Given the description of an element on the screen output the (x, y) to click on. 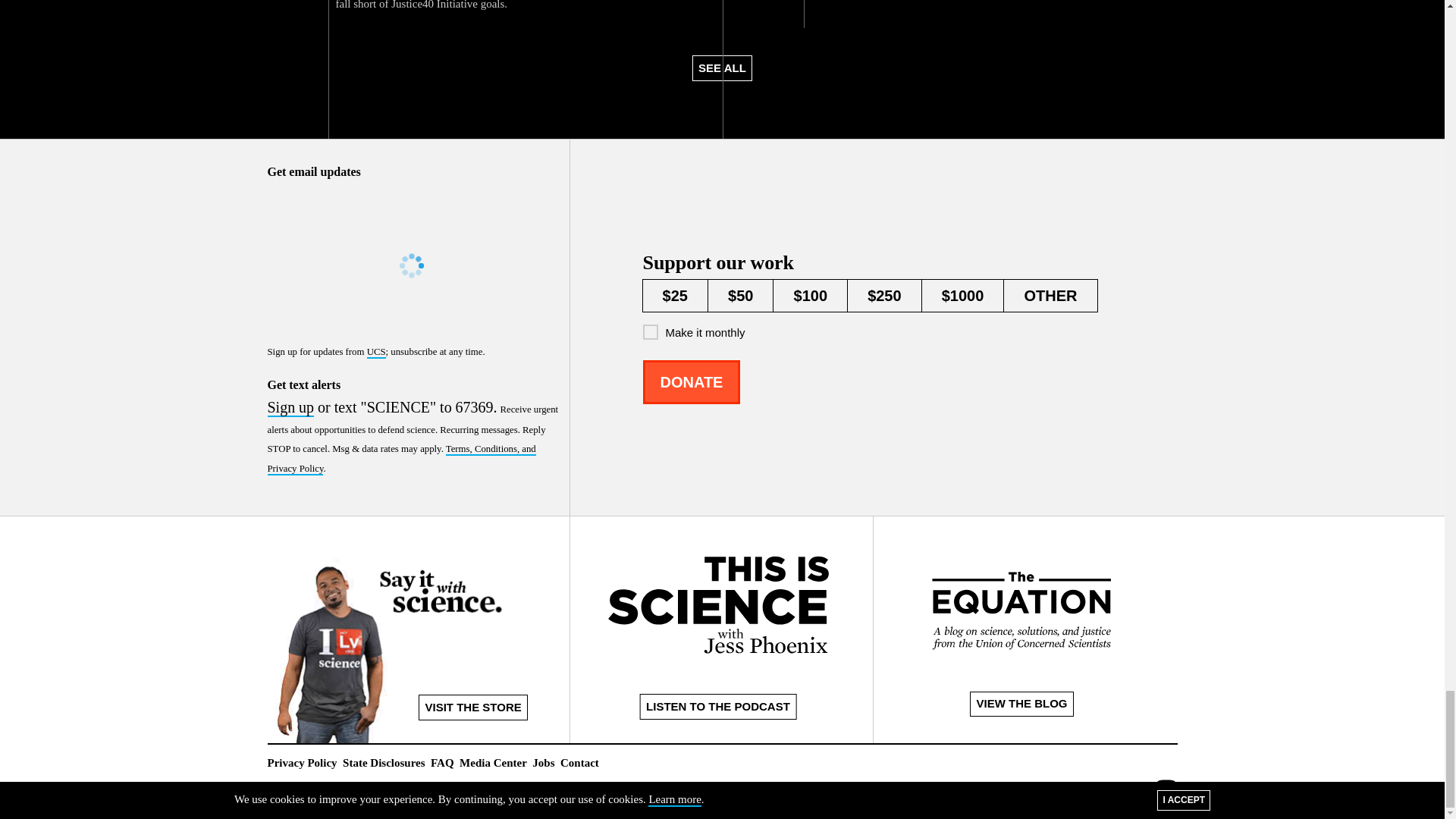
Donate Online (692, 382)
